Given the description of an element on the screen output the (x, y) to click on. 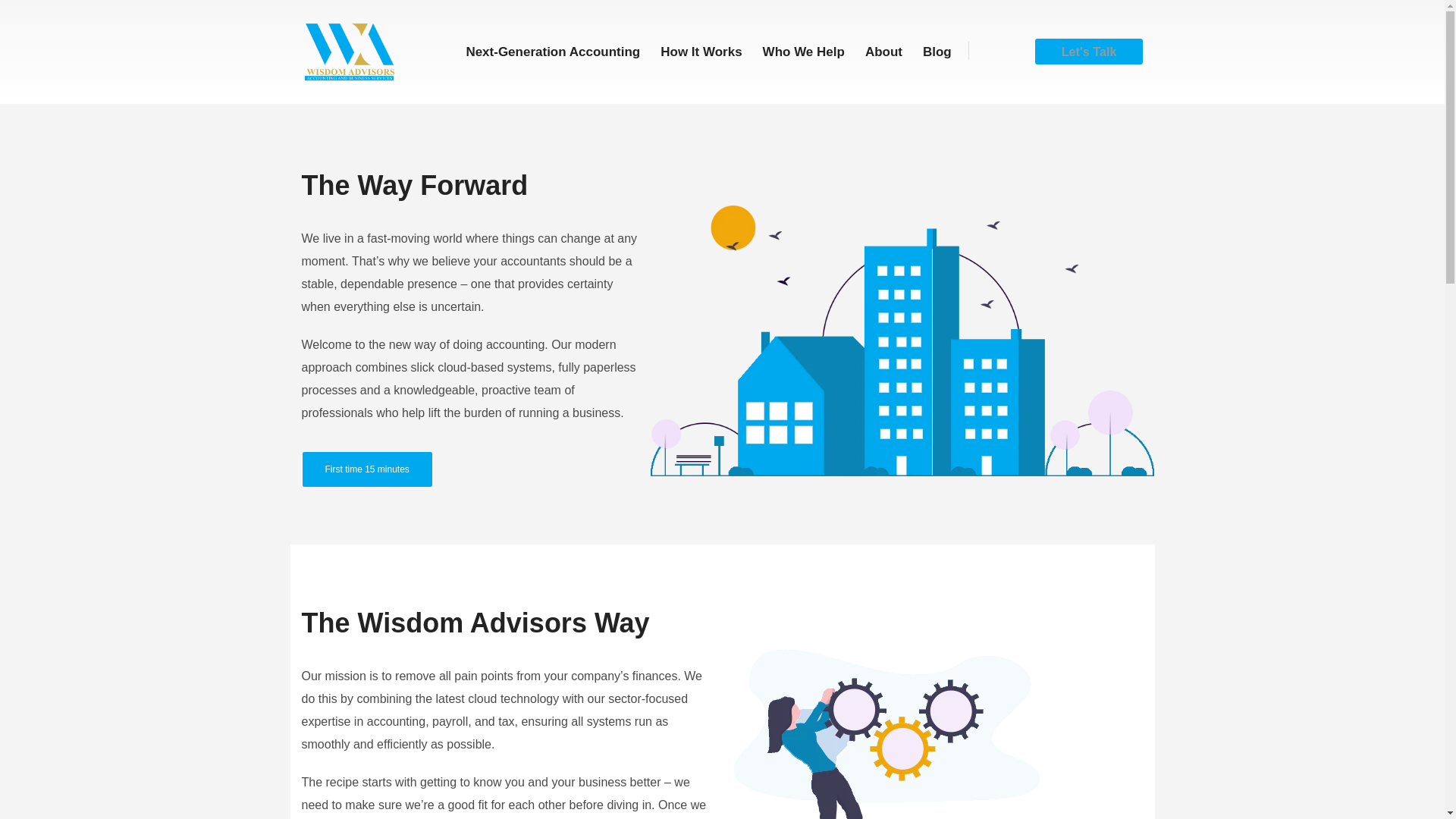
Contact Us (366, 469)
Who We Help (803, 51)
About (884, 51)
Blog (936, 51)
First time 15 minutes (366, 469)
Next-Generation Accounting (552, 51)
How It Works (700, 51)
Wisdom Advisors - Just another WordPress site (348, 51)
Let's Talk (1088, 51)
